Given the description of an element on the screen output the (x, y) to click on. 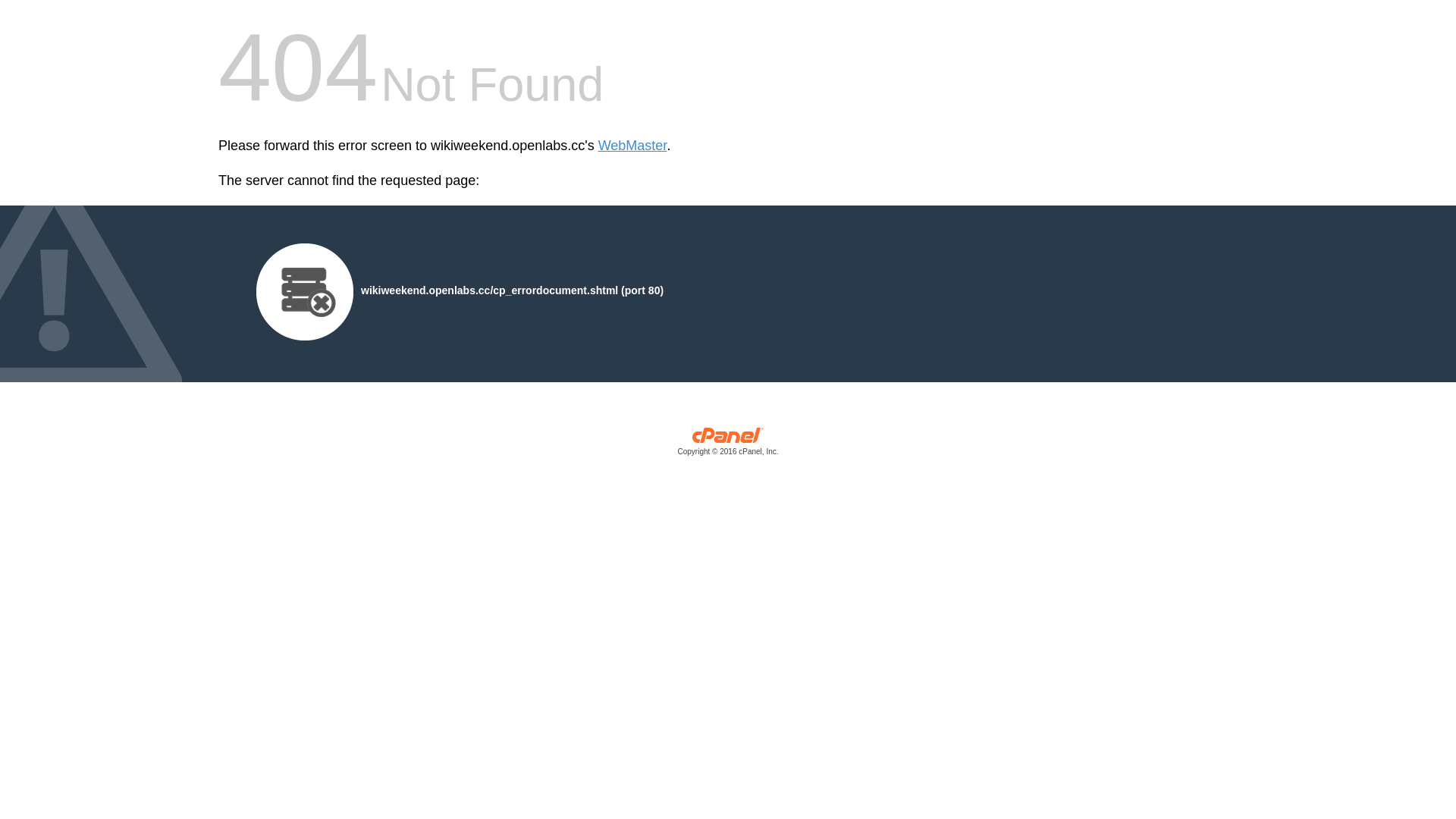
WebMaster Element type: text (632, 145)
